Given the description of an element on the screen output the (x, y) to click on. 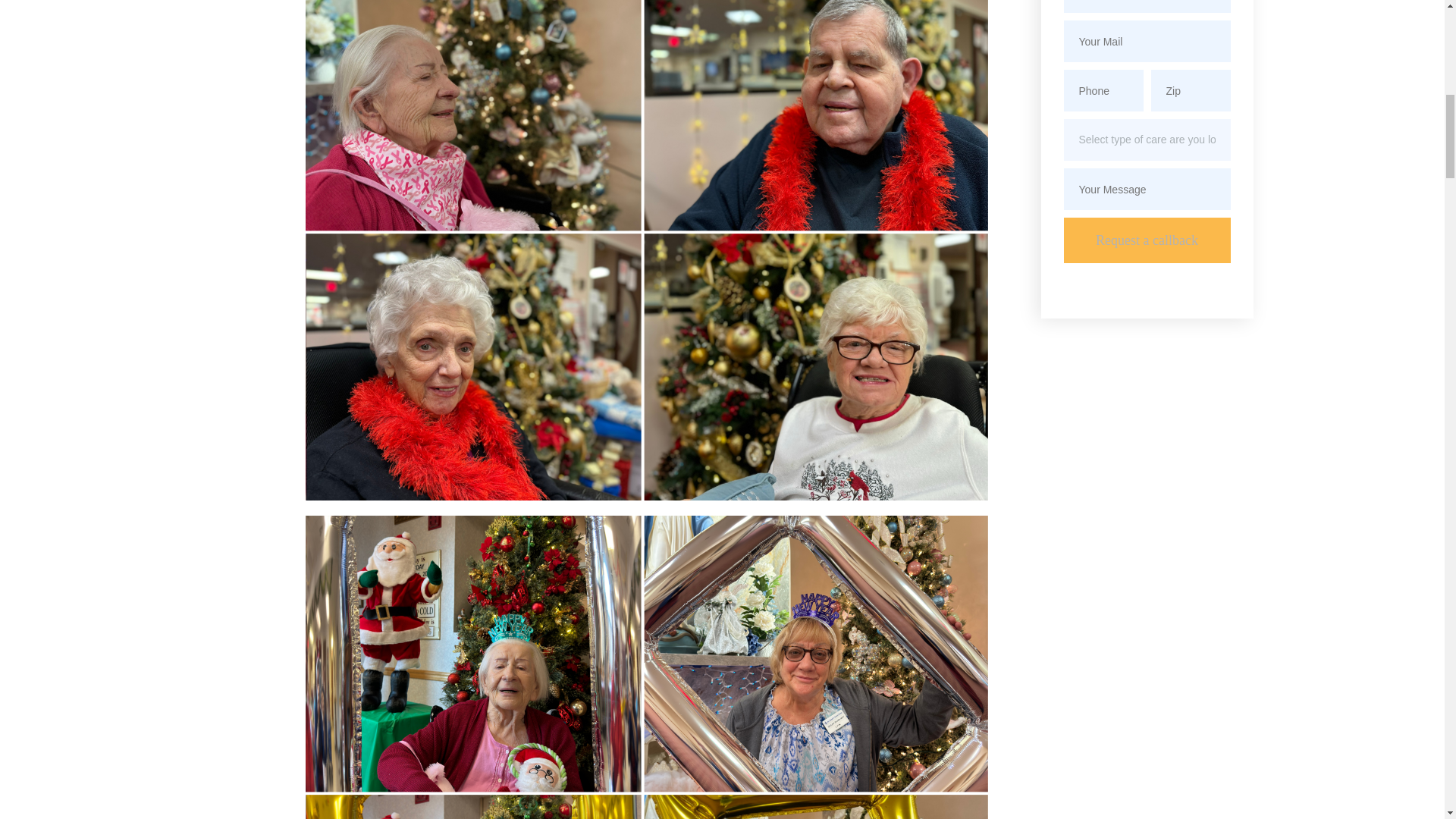
Request a callback (1146, 239)
